Given the description of an element on the screen output the (x, y) to click on. 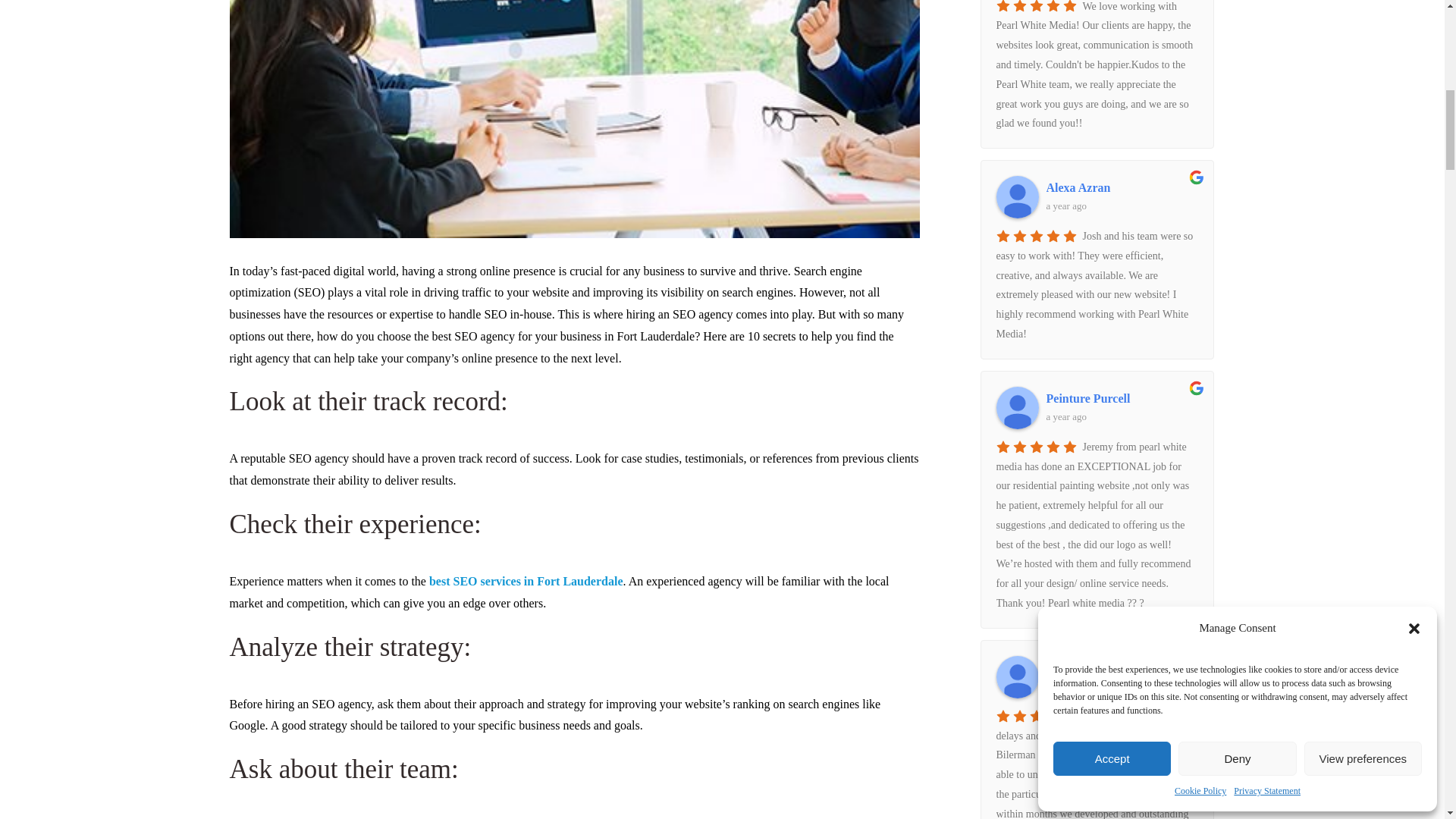
Alexa Azran (1017, 197)
Alexa Azran (1122, 188)
